Given the description of an element on the screen output the (x, y) to click on. 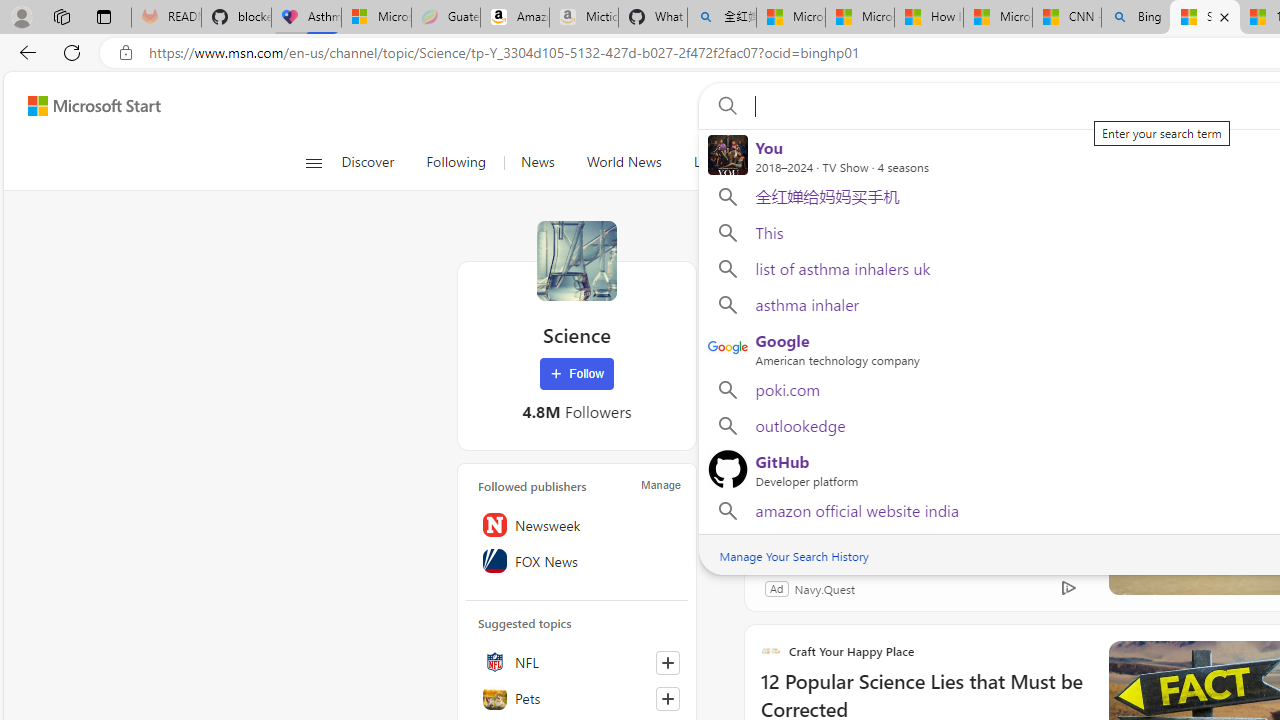
Bing (1135, 17)
Science - MSN (1205, 17)
Asthma Inhalers: Names and Types (305, 17)
Microsoft-Report a Concern to Bing (375, 17)
